Given the description of an element on the screen output the (x, y) to click on. 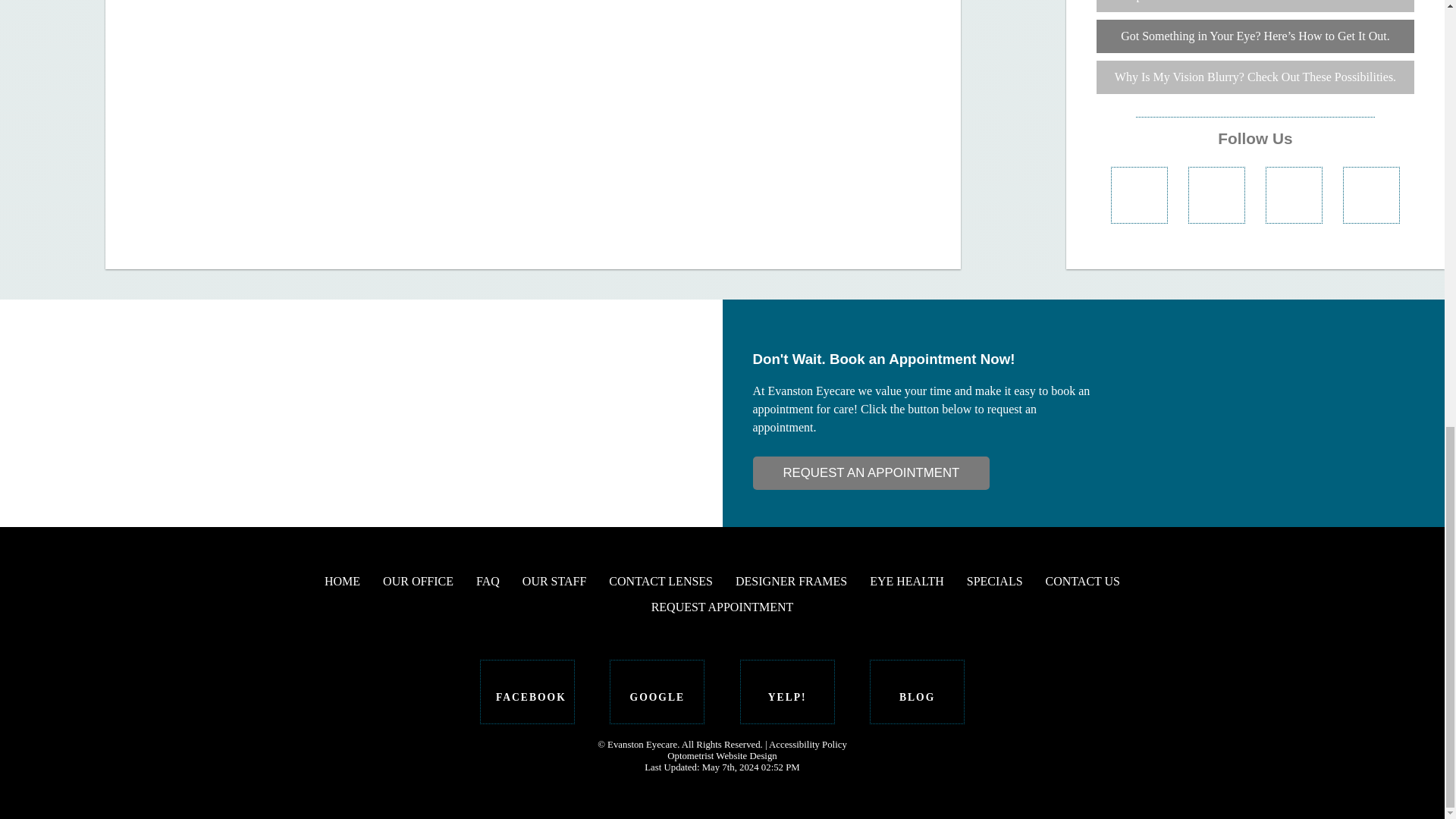
FAQ (487, 581)
FACEBOOK (527, 691)
DESIGNER FRAMES (791, 581)
REQUEST APPOINTMENT (721, 606)
CONTACT LENSES (660, 581)
BLOG (916, 691)
Why Is My Vision Blurry? Check Out These Possibilities. (1254, 77)
EYE HEALTH (906, 581)
OUR OFFICE (417, 581)
HOME (341, 581)
YELP! (786, 691)
Spots in Your Field of Vision: Harmless or Serious? (1254, 6)
OUR STAFF (554, 581)
GOOGLE (657, 691)
SPECIALS (994, 581)
